Given the description of an element on the screen output the (x, y) to click on. 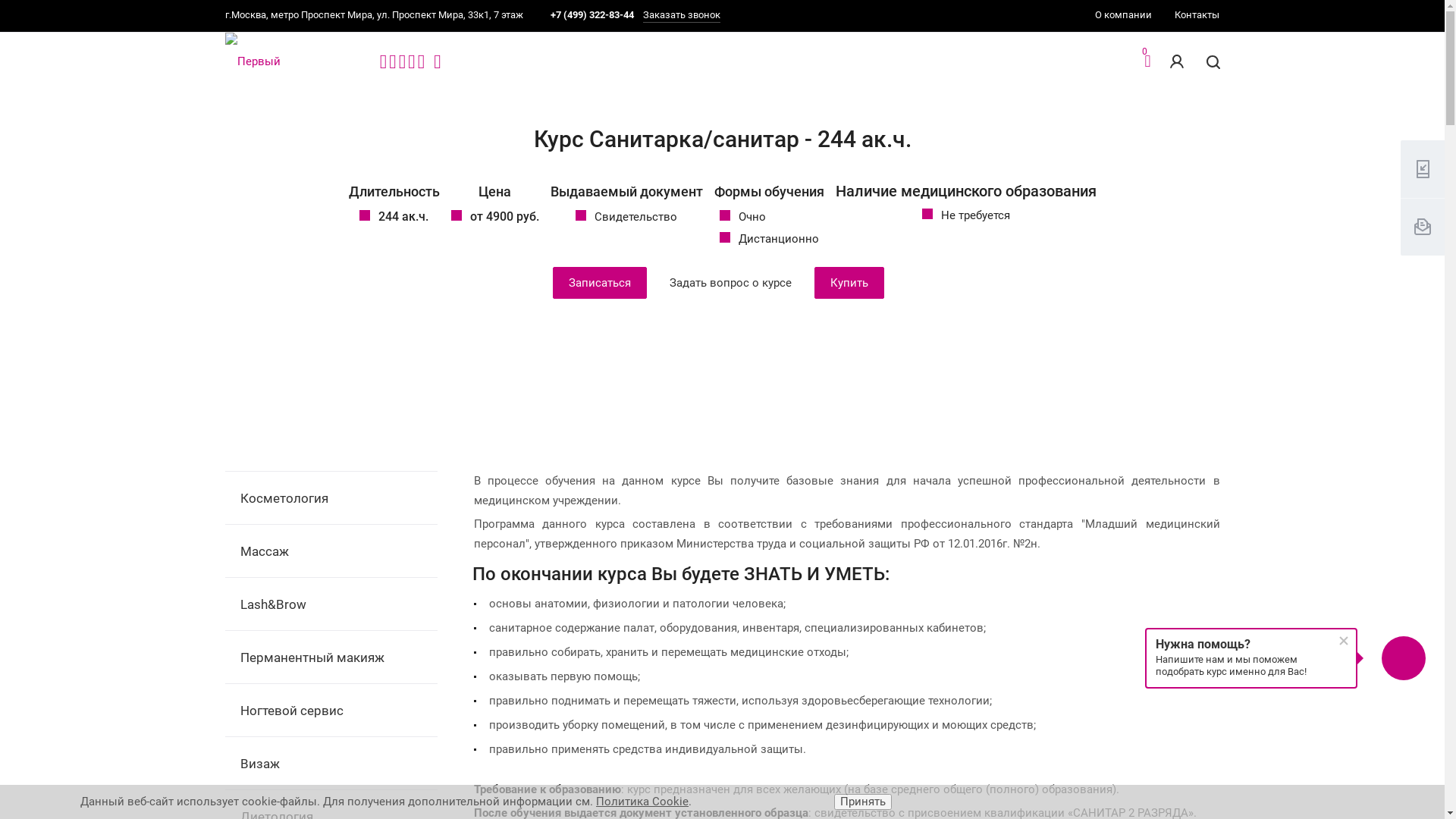
Lash&Brow Element type: text (330, 603)
0 Element type: text (1147, 62)
